Given the description of an element on the screen output the (x, y) to click on. 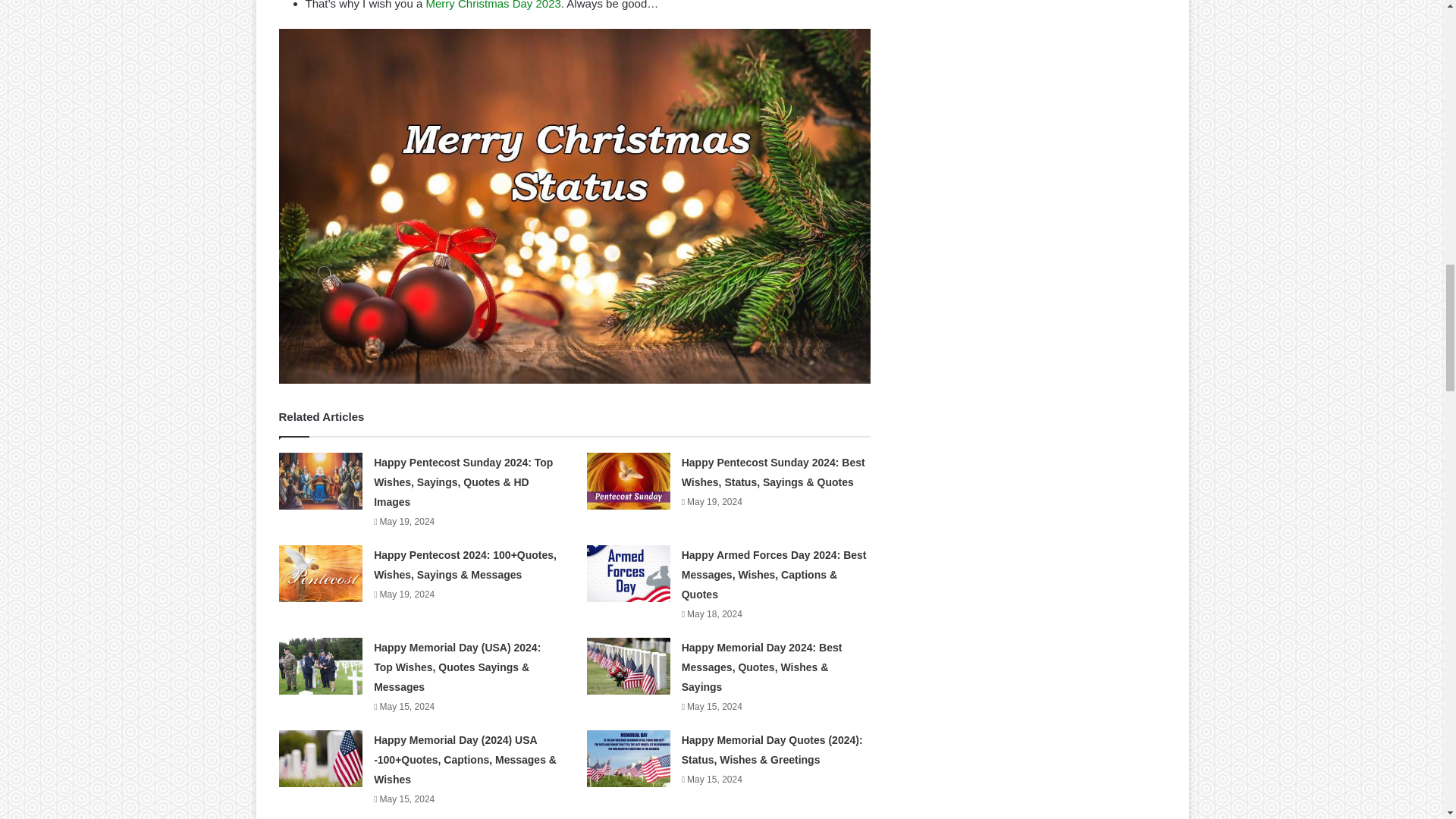
Merry Christmas Day 2023 (492, 4)
